Given the description of an element on the screen output the (x, y) to click on. 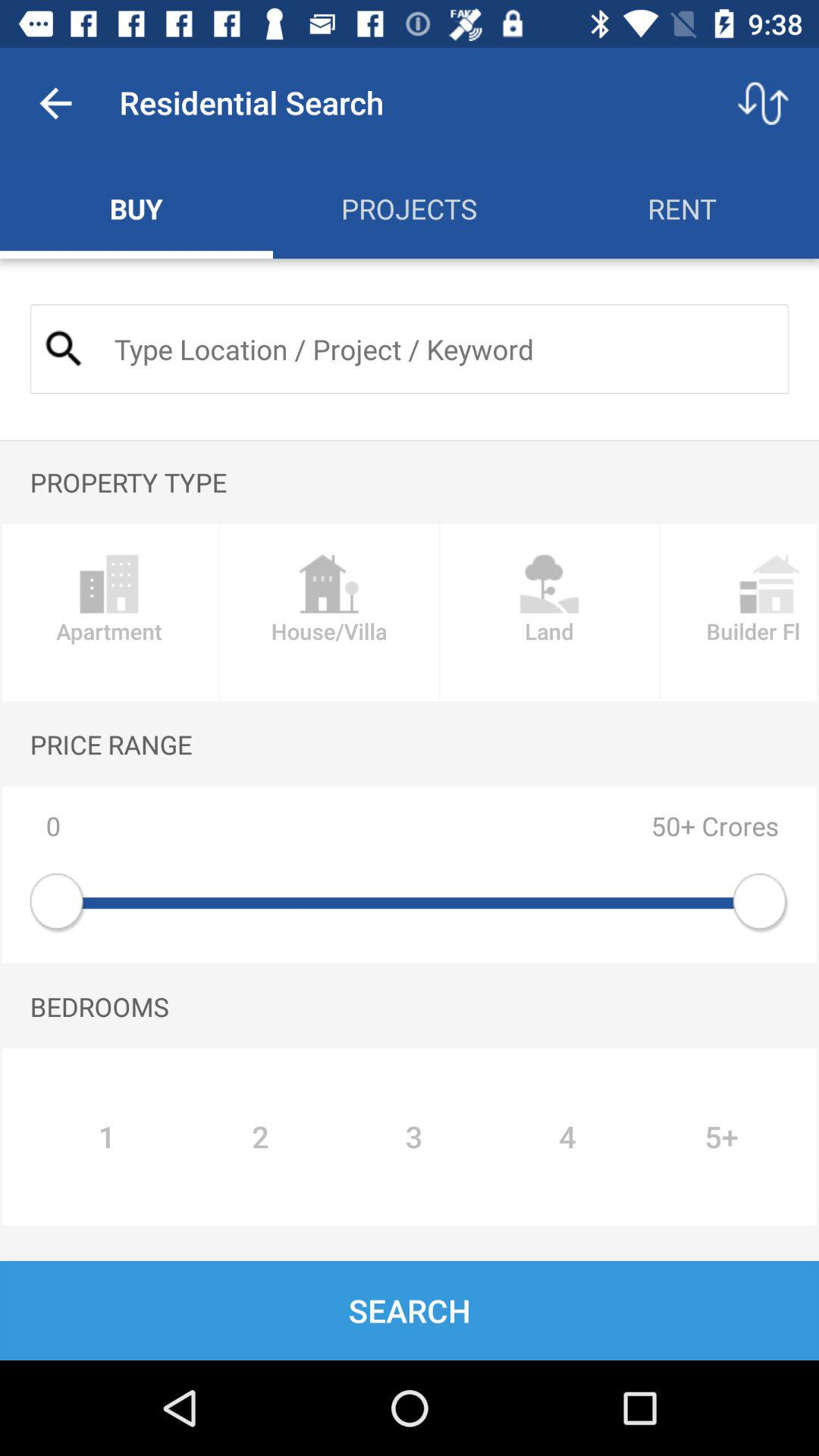
choose icon next to the residential search (55, 103)
